Given the description of an element on the screen output the (x, y) to click on. 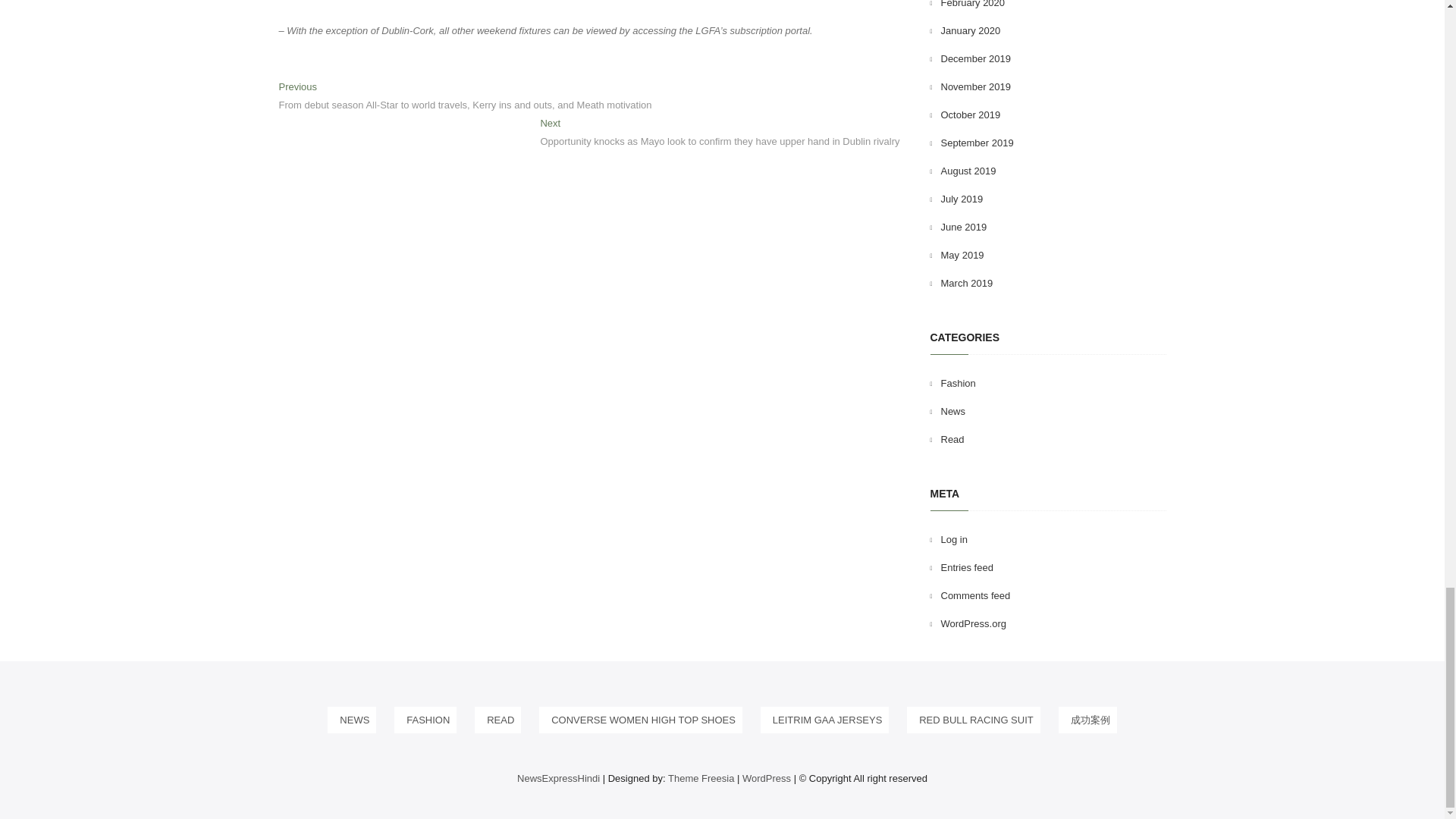
WordPress (766, 778)
NewsExpressHindi (557, 778)
Theme Freesia (700, 778)
